Given the description of an element on the screen output the (x, y) to click on. 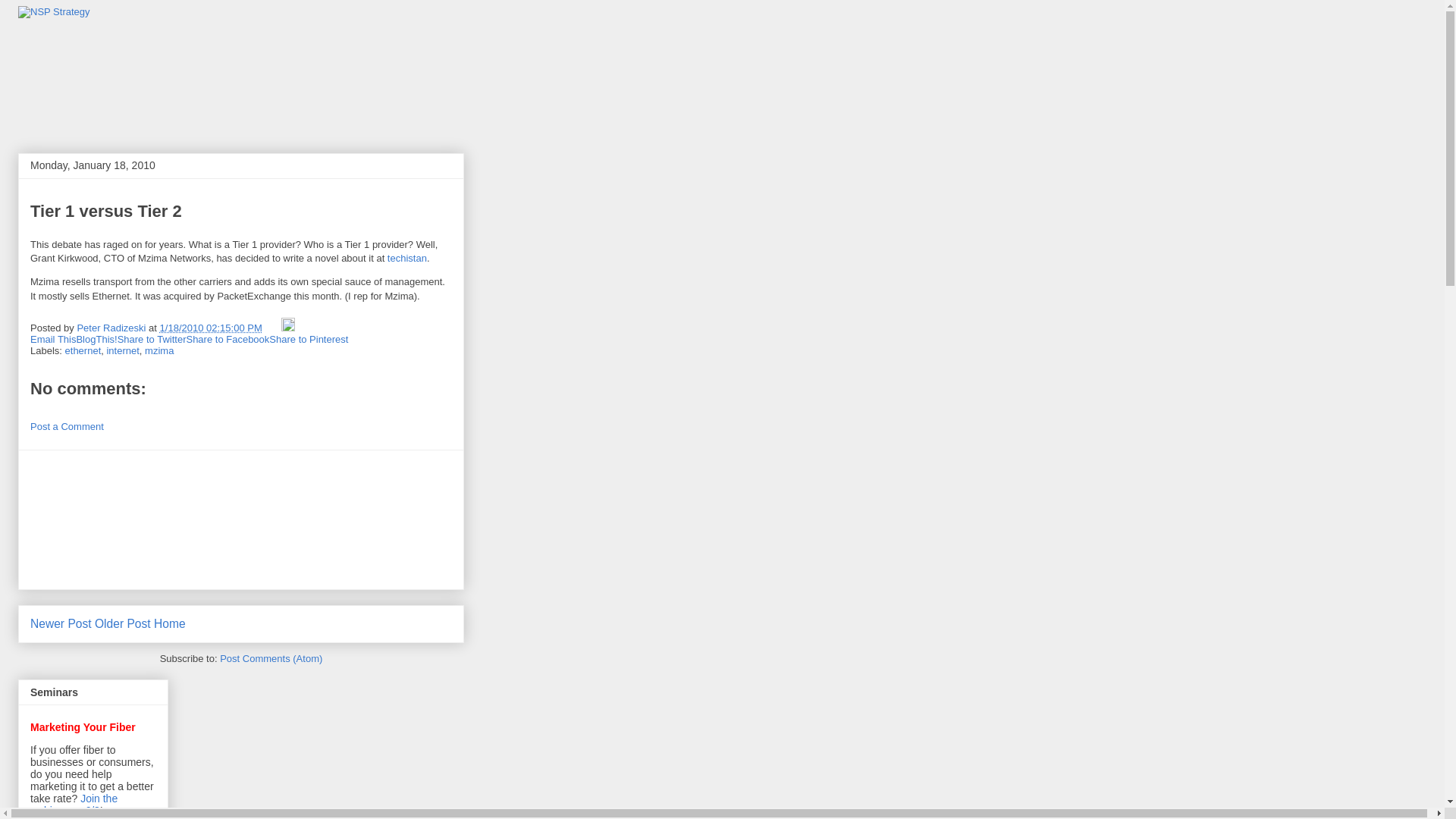
Share to Pinterest (308, 338)
BlogThis! (95, 338)
Older Post (122, 623)
Newer Post (60, 623)
Share to Twitter (151, 338)
internet (122, 350)
permanent link (211, 327)
Email Post (272, 327)
Share to Twitter (151, 338)
mzima (158, 350)
Share to Facebook (227, 338)
Email This (52, 338)
BlogThis! (95, 338)
techistan (406, 257)
Advertisement (98, 518)
